Given the description of an element on the screen output the (x, y) to click on. 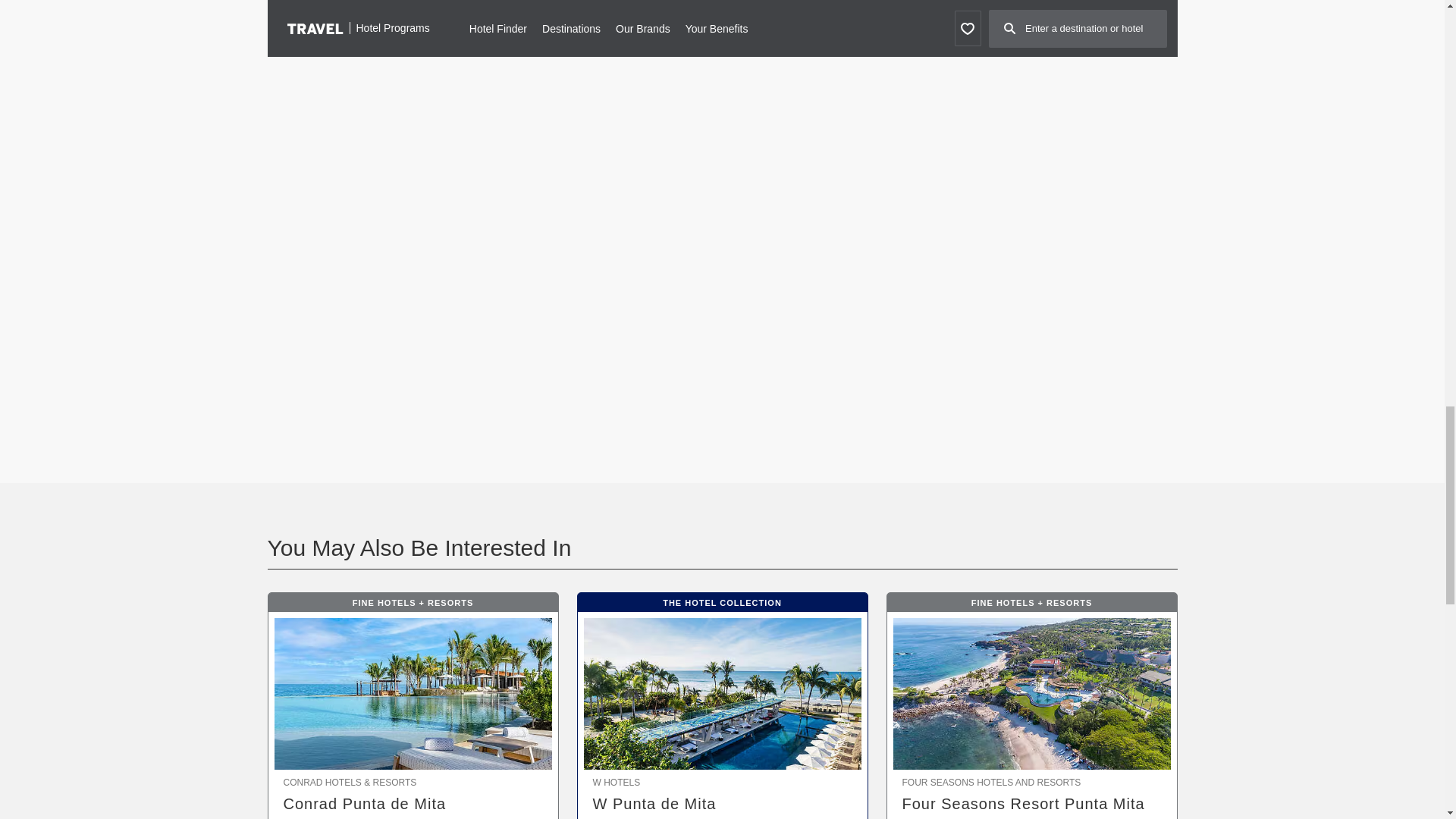
Conrad Punta de Mita (413, 803)
